Given the description of an element on the screen output the (x, y) to click on. 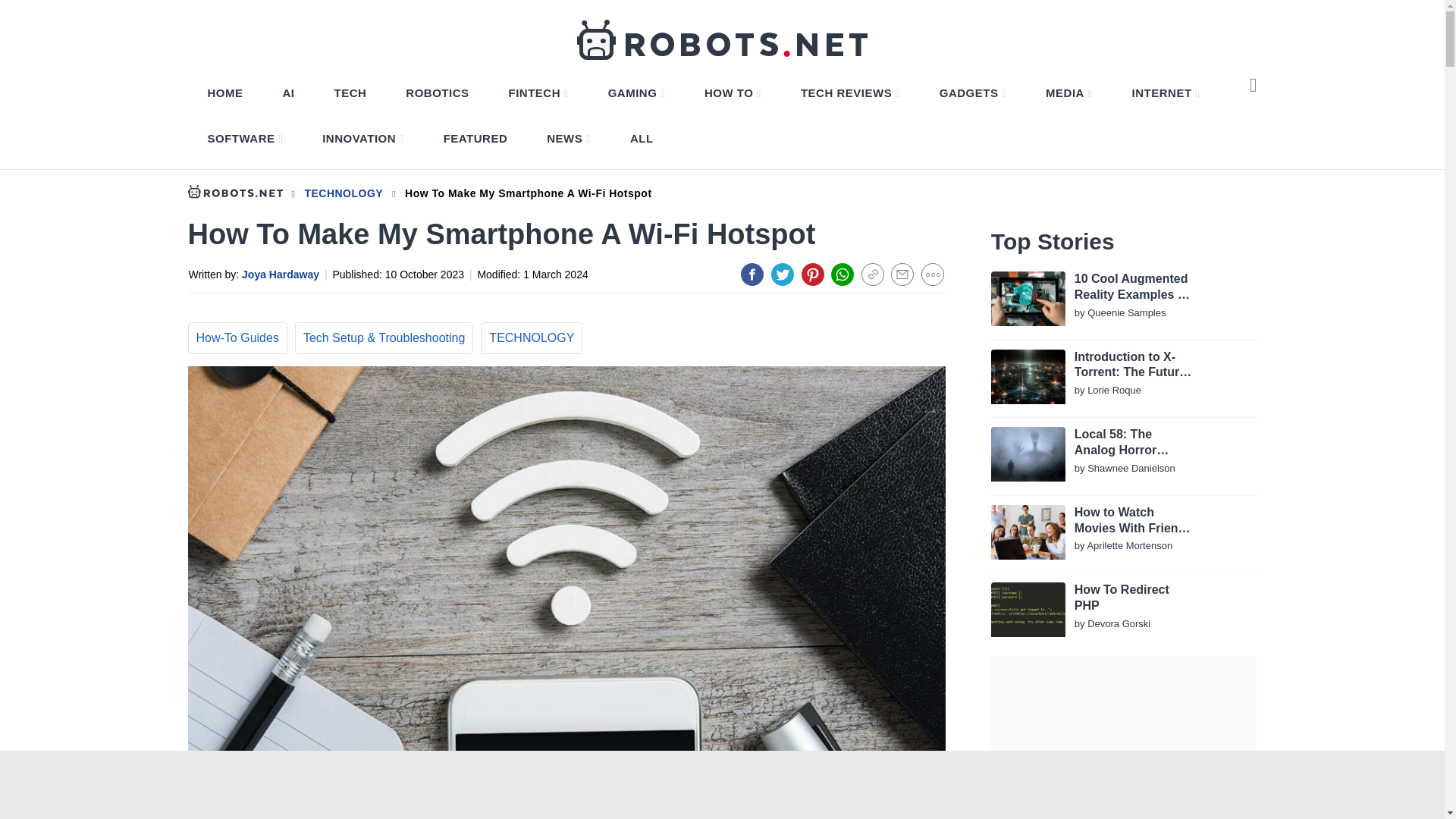
Copy to Clipboard (872, 273)
ROBOTICS (436, 93)
HOME (225, 93)
Share on twitter (782, 273)
FINTECH (538, 93)
GAMING (635, 93)
Share on Pinterest (813, 273)
Share on facebook (751, 273)
MEDIA (1068, 93)
Mail the Link (902, 273)
TECH REVIEWS (850, 93)
Share on Whatsapp (842, 273)
HOW TO (732, 93)
TECH (350, 93)
View Less (932, 273)
